Given the description of an element on the screen output the (x, y) to click on. 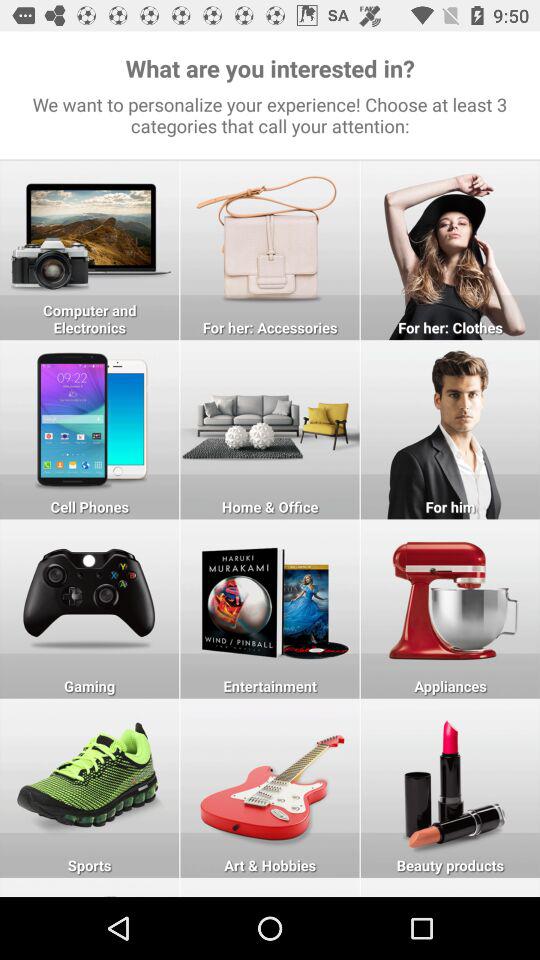
clothes for women button (450, 250)
